Given the description of an element on the screen output the (x, y) to click on. 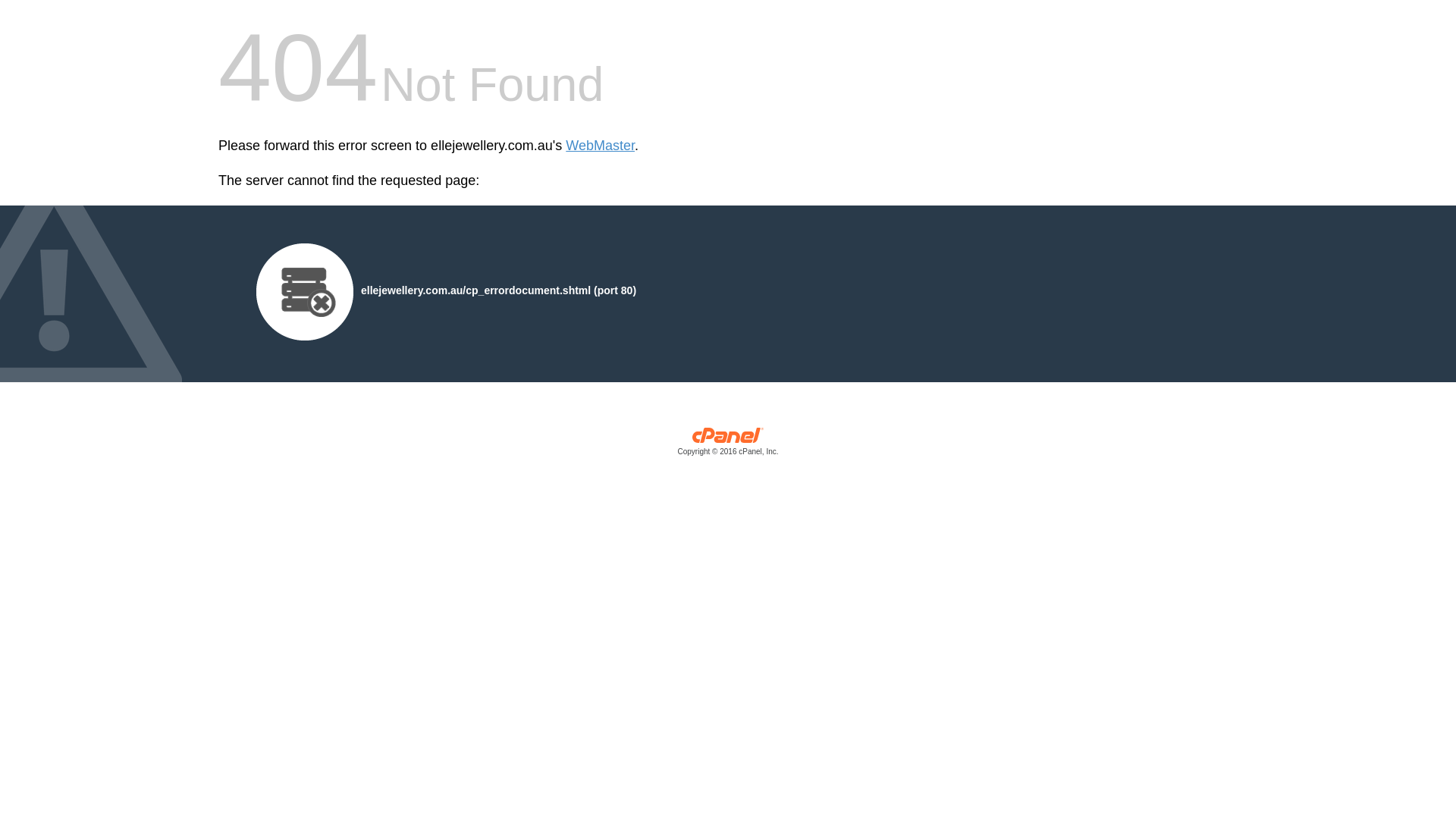
WebMaster Element type: text (599, 145)
